Given the description of an element on the screen output the (x, y) to click on. 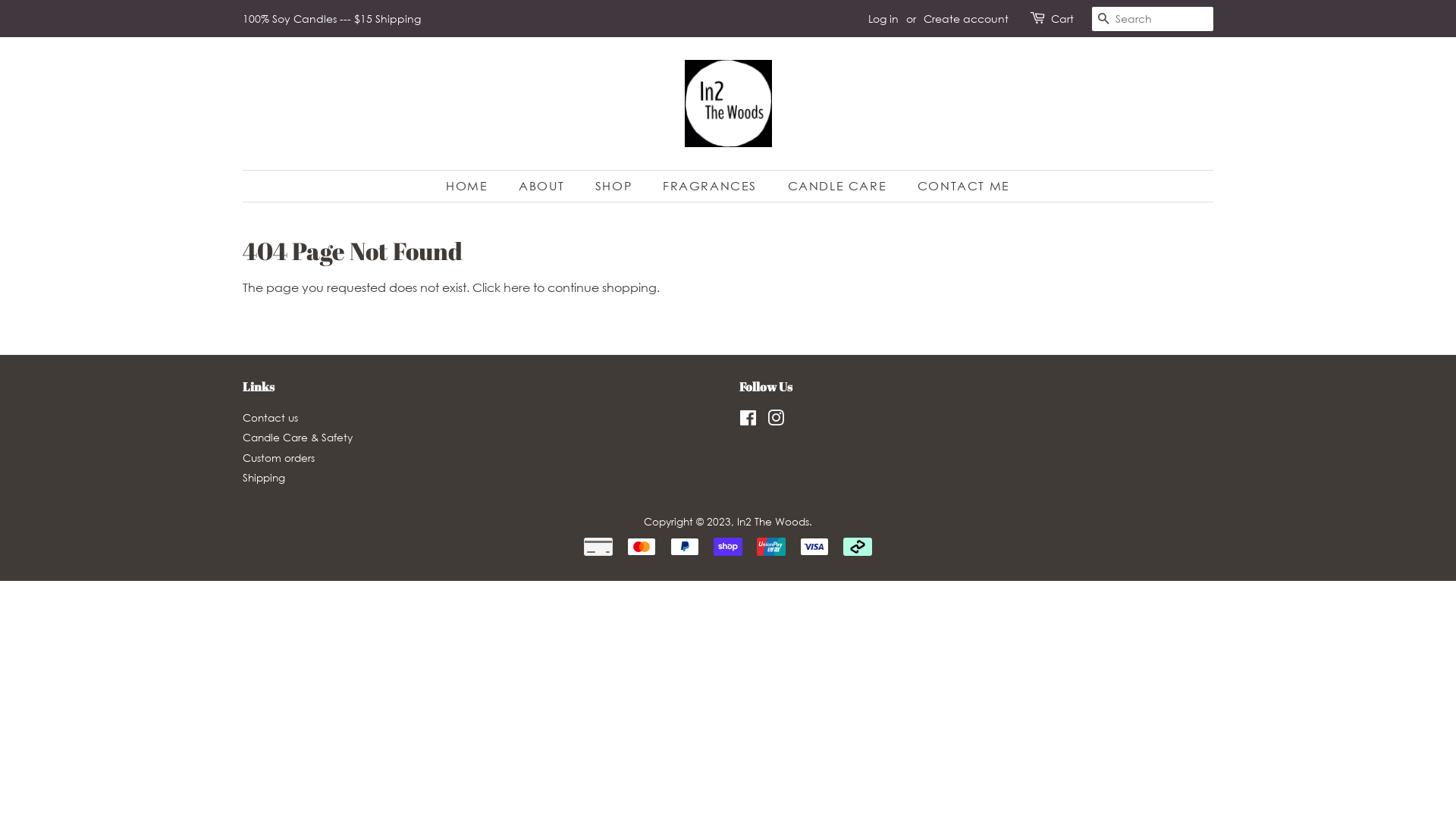
Candle Care & Safety Element type: text (297, 436)
Cart Element type: text (1062, 18)
SHOP Element type: text (614, 185)
Custom orders Element type: text (278, 457)
Instagram Element type: text (775, 420)
HOME Element type: text (473, 185)
Facebook Element type: text (747, 420)
here Element type: text (516, 286)
In2 The Woods Element type: text (773, 520)
SEARCH Element type: text (1104, 18)
ABOUT Element type: text (543, 185)
FRAGRANCES Element type: text (711, 185)
Log in Element type: text (883, 18)
Contact us Element type: text (270, 417)
CANDLE CARE Element type: text (839, 185)
CONTACT ME Element type: text (958, 185)
Shipping Element type: text (263, 476)
Create account Element type: text (965, 18)
